Given the description of an element on the screen output the (x, y) to click on. 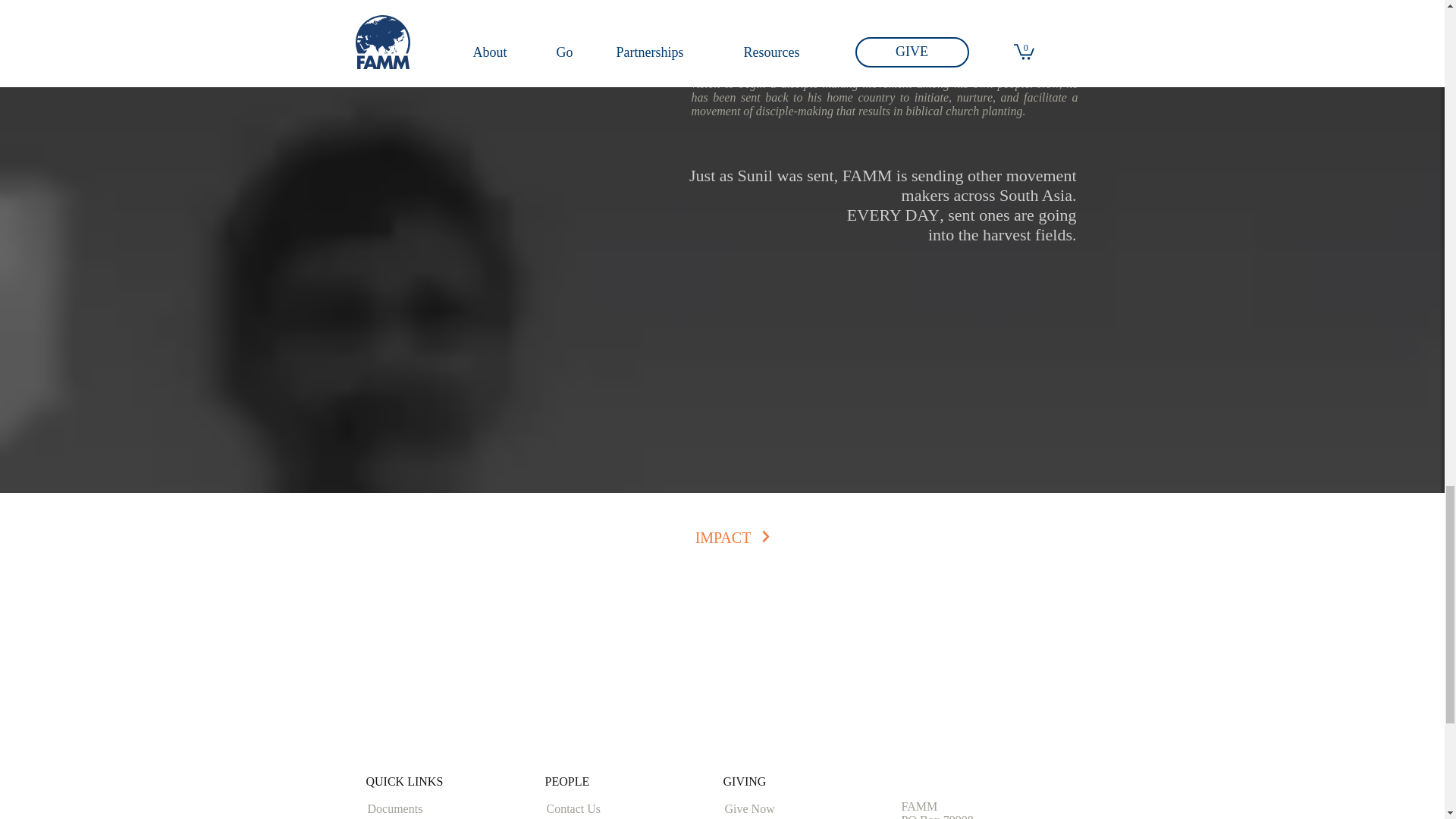
IMPACT (723, 537)
Documents (421, 809)
Give Now (779, 809)
Contact Us (598, 809)
Site Search (719, 722)
